Given the description of an element on the screen output the (x, y) to click on. 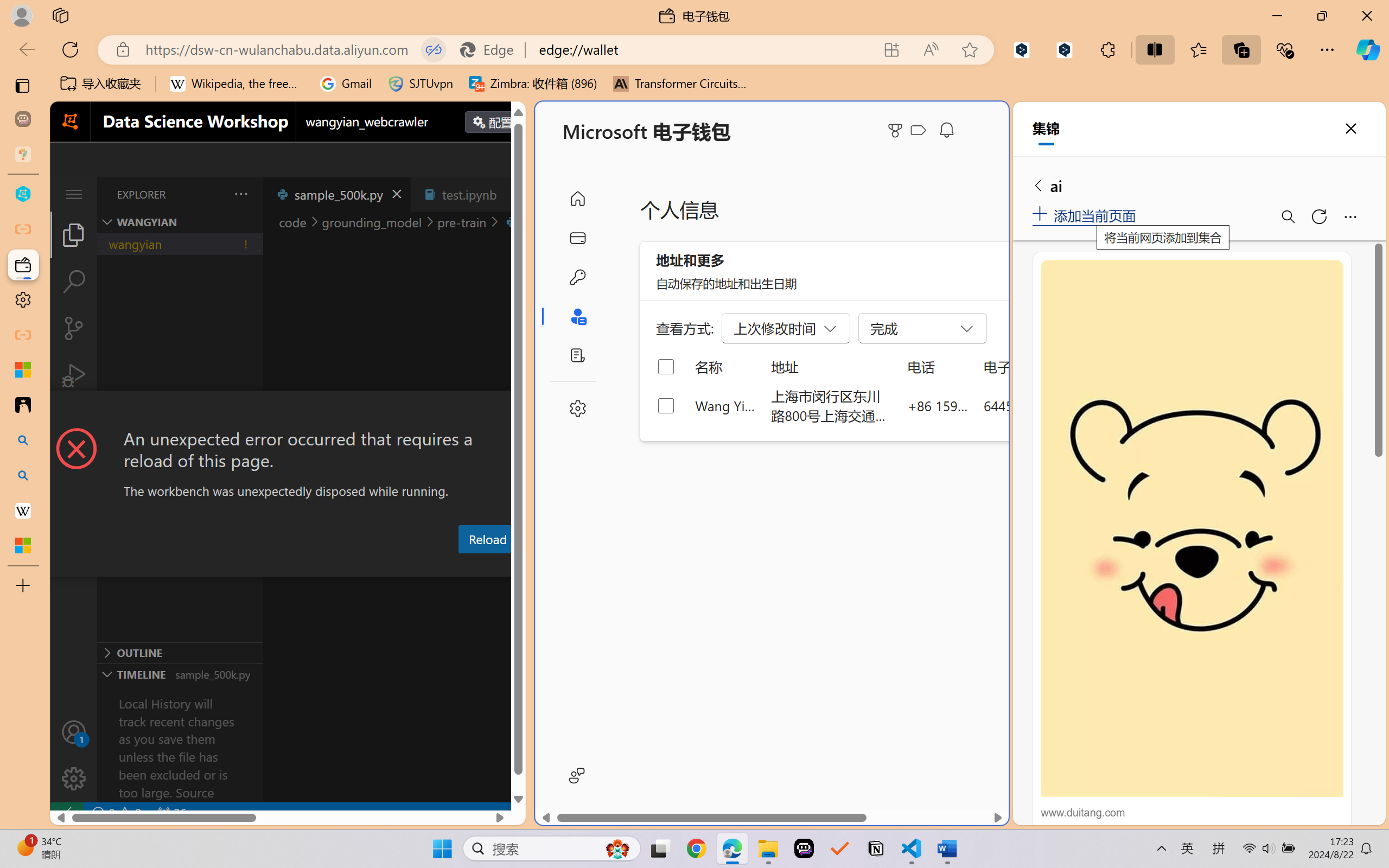
Class: ___1lmltc5 f1agt3bx f12qytpq (917, 130)
Tab actions (512, 194)
Search (Ctrl+Shift+F) (73, 281)
Microsoft Rewards (896, 129)
Class: actions-container (287, 410)
Microsoft Cashback (920, 130)
Manage (73, 755)
